Given the description of an element on the screen output the (x, y) to click on. 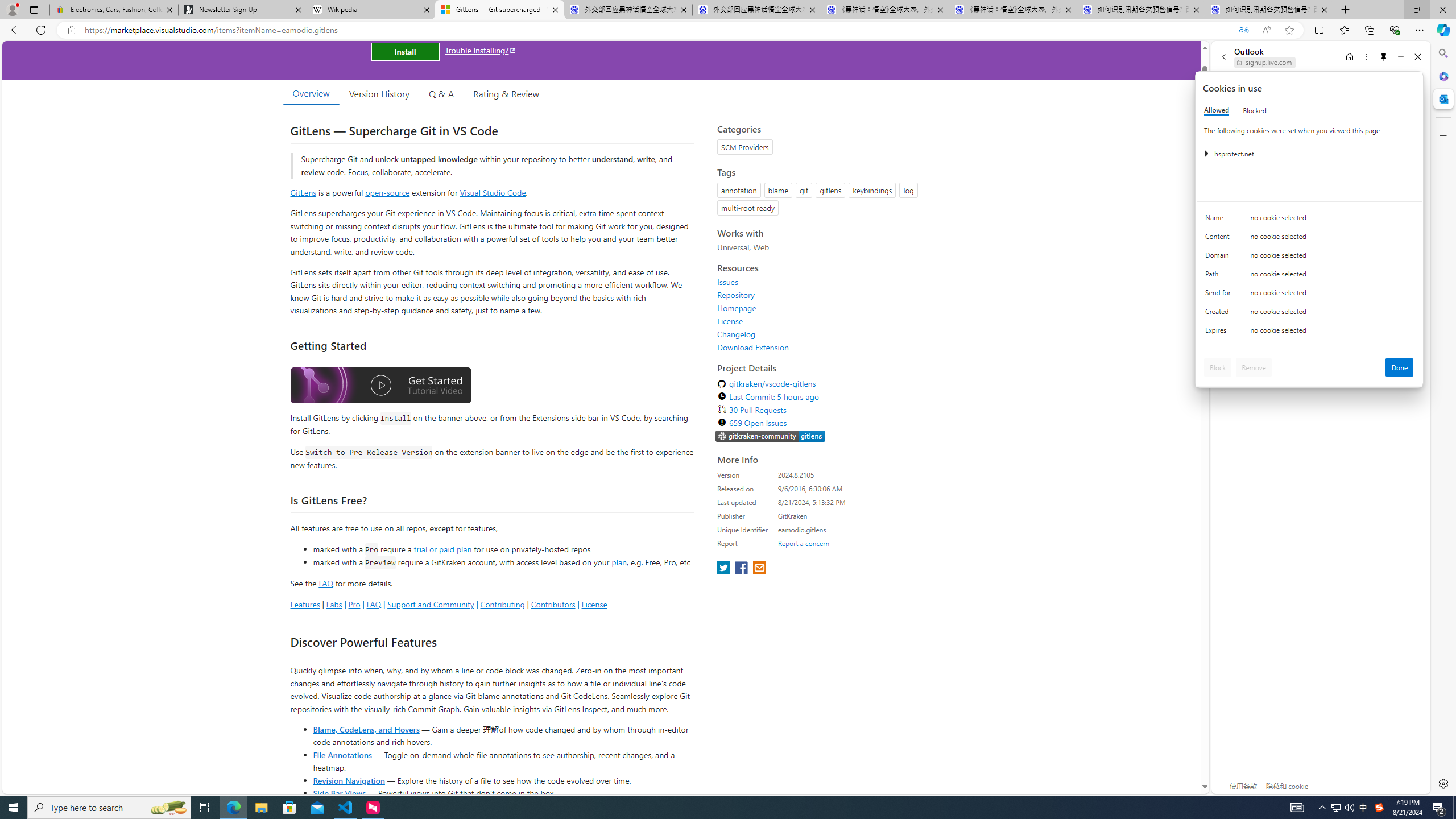
Allowed (1216, 110)
Content (1219, 239)
Name (1219, 220)
Path (1219, 276)
Expires (1219, 332)
Send for (1219, 295)
Class: c0153 c0157 (1309, 332)
Created (1219, 313)
Domain (1219, 257)
Done (1399, 367)
no cookie selected (1331, 332)
Blocked (1255, 110)
Block (1217, 367)
Class: c0153 c0157 c0154 (1309, 220)
Remove (1253, 367)
